Given the description of an element on the screen output the (x, y) to click on. 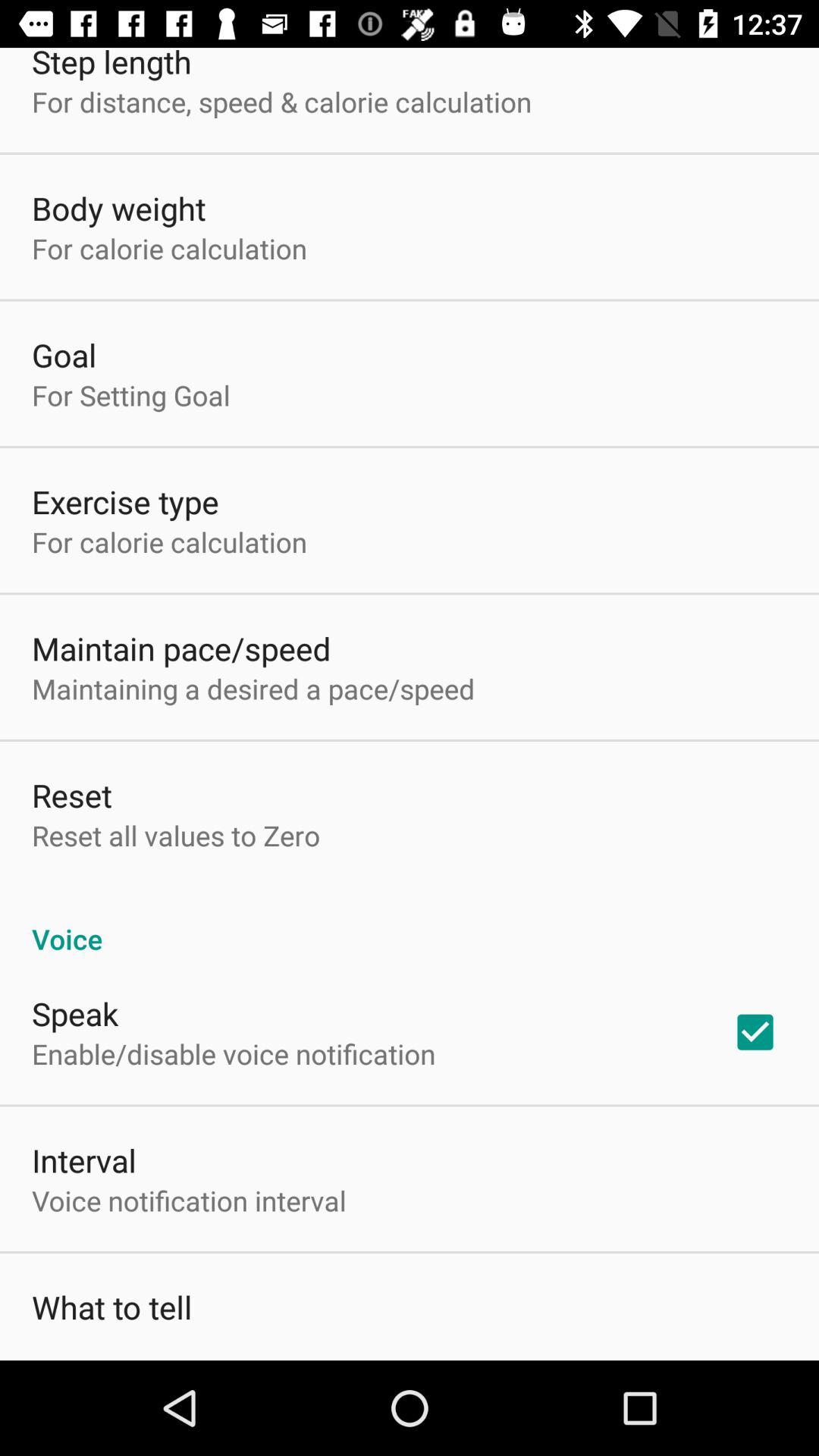
press item next to the enable disable voice (755, 1032)
